Given the description of an element on the screen output the (x, y) to click on. 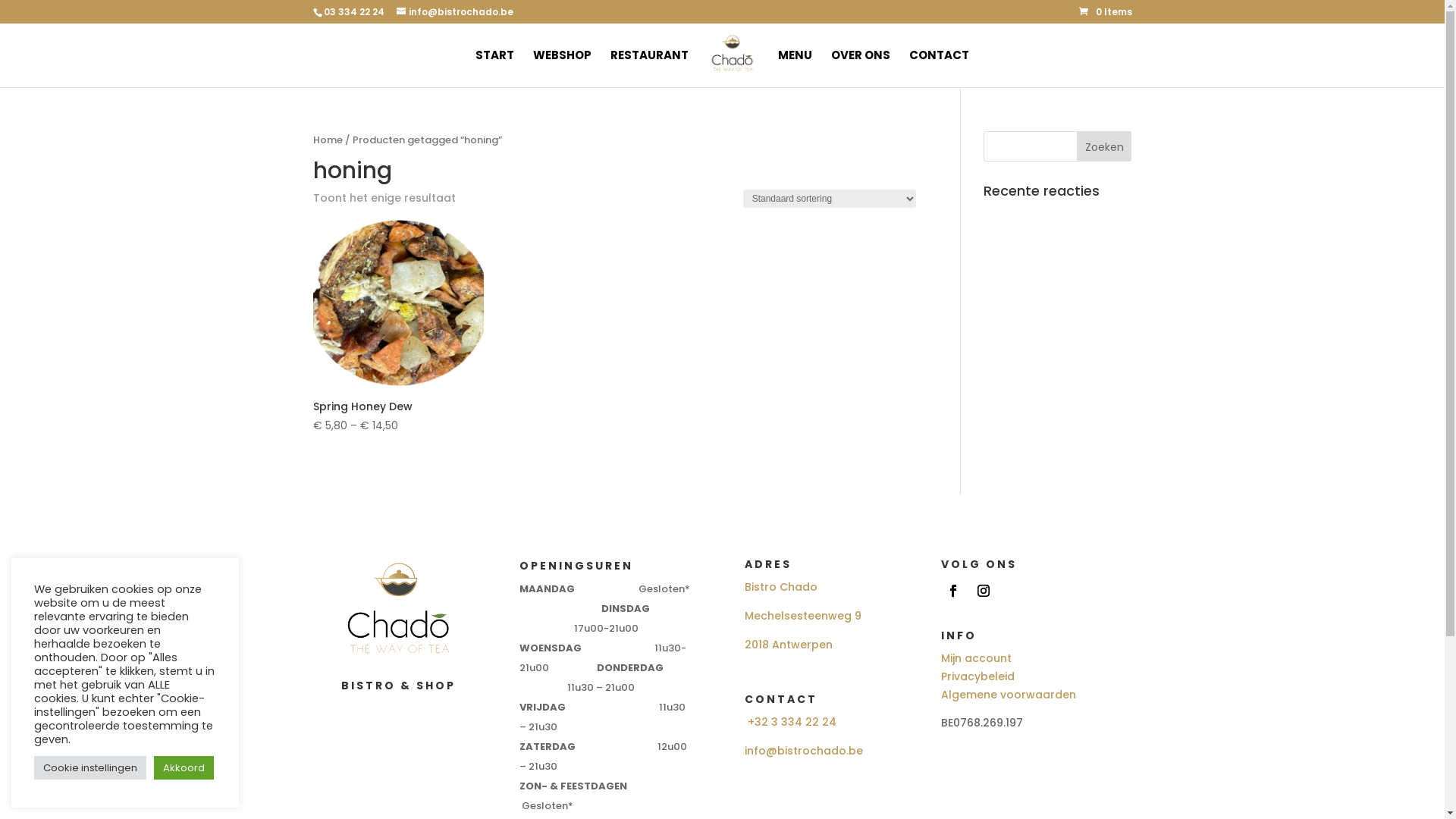
Mijn account Element type: text (976, 657)
0 Items Element type: text (1104, 11)
Follow on Facebook Element type: hover (953, 590)
CONTACT Element type: text (939, 68)
OVER ONS Element type: text (860, 68)
Mechelsesteenweg 9 Element type: text (802, 615)
info@bistrochado.be Element type: text (803, 750)
WEBSHOP Element type: text (562, 68)
Algemene voorwaarden Element type: text (1008, 694)
Akkoord Element type: text (183, 767)
Cookie instellingen Element type: text (90, 767)
Follow on Instagram Element type: hover (983, 590)
2018 Antwerpen Element type: text (788, 644)
RESTAURANT Element type: text (649, 68)
Home Element type: text (327, 139)
+32 3 334 22 24 Element type: text (791, 721)
START Element type: text (494, 68)
Zoeken Element type: text (1104, 146)
Privacybeleid Element type: text (977, 676)
MENU Element type: text (795, 68)
Bistro Chado Element type: text (780, 586)
info@bistrochado.be Element type: text (453, 11)
